Given the description of an element on the screen output the (x, y) to click on. 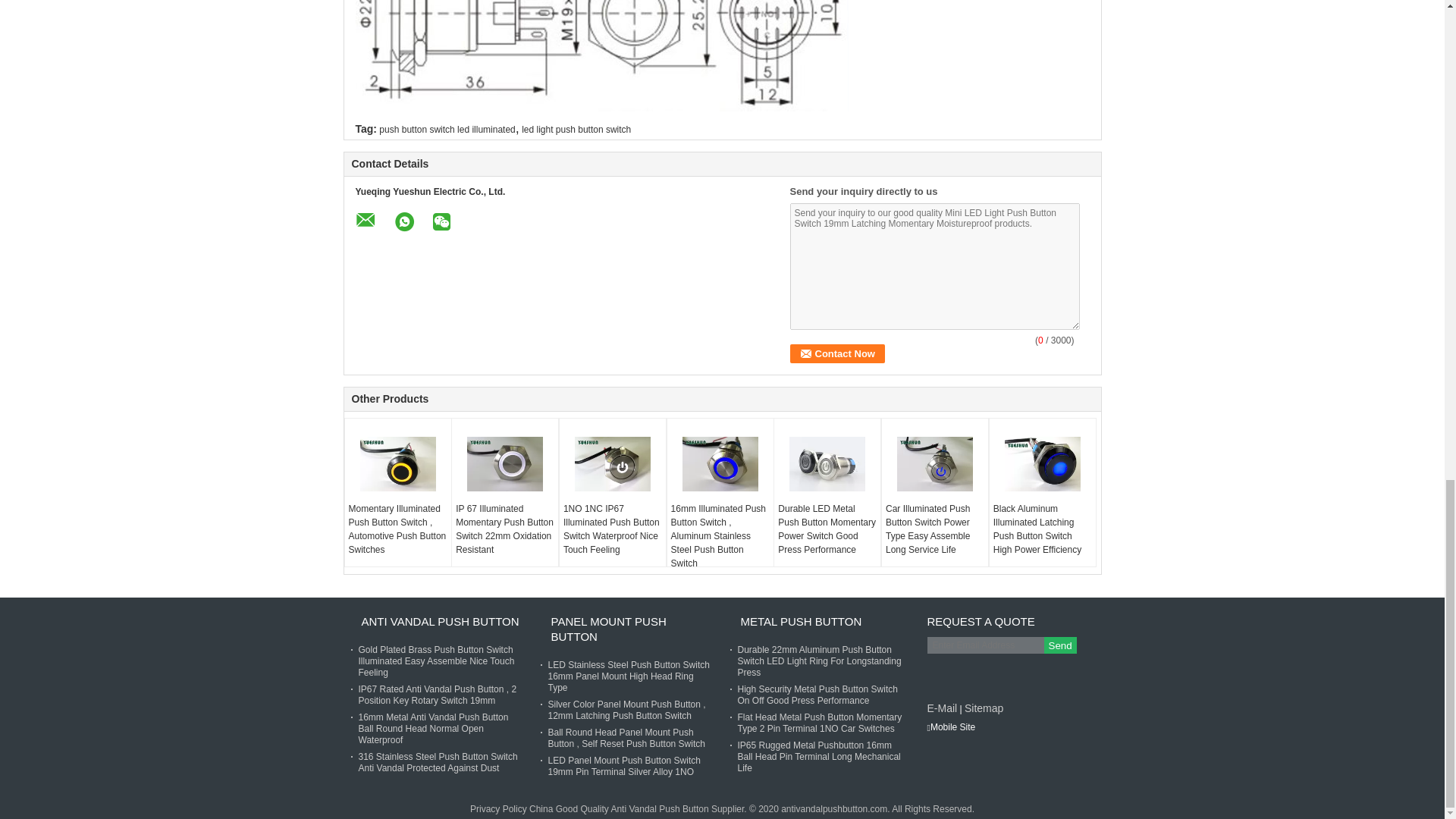
Contact Now (837, 353)
